Given the description of an element on the screen output the (x, y) to click on. 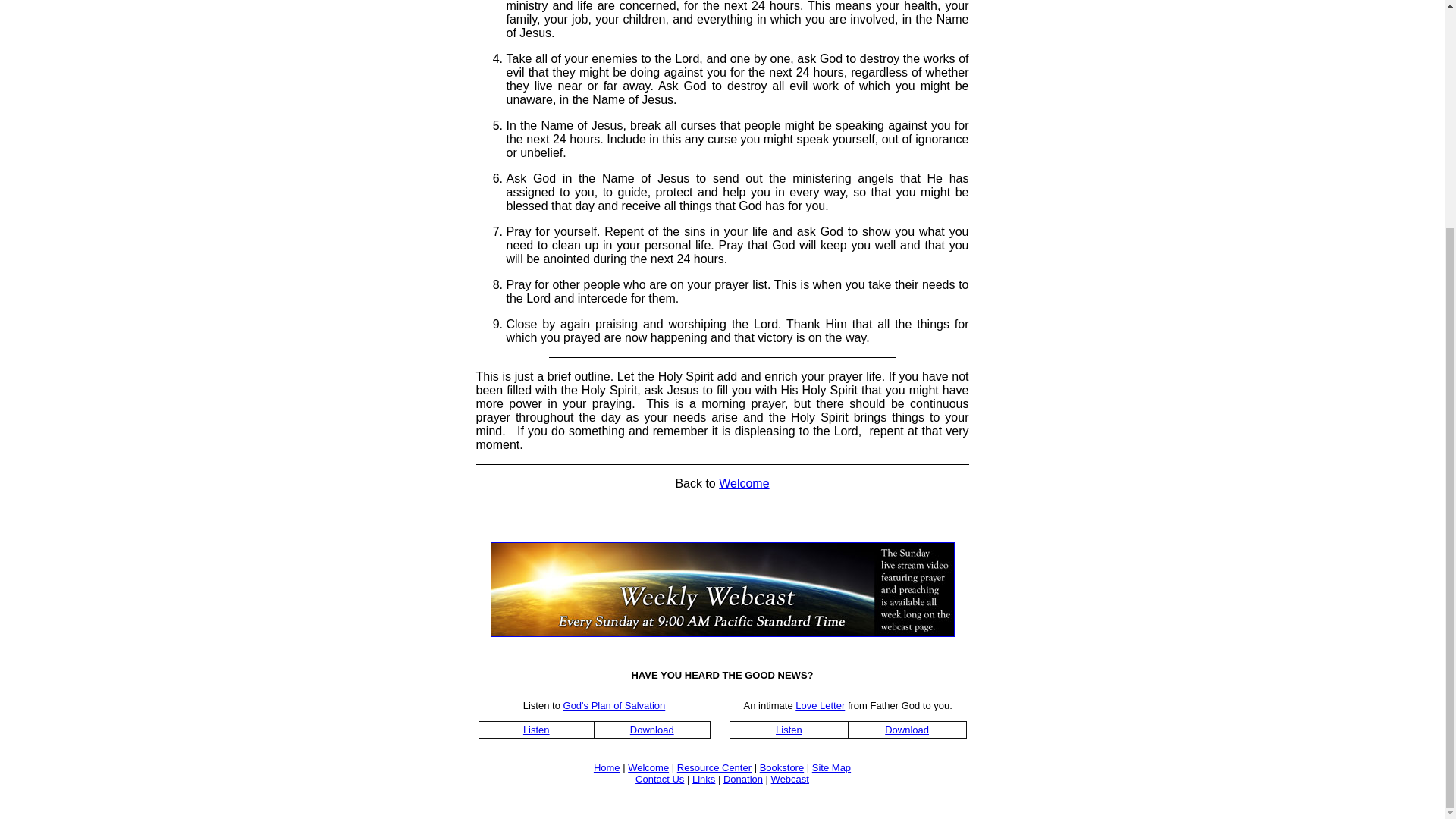
Bookstore (782, 767)
Home (607, 767)
Links (703, 778)
Resource Center (714, 767)
Listen (789, 728)
Donation (742, 778)
Download (652, 728)
Contact Us (659, 778)
Webcast (790, 778)
Listen (536, 728)
Welcome (743, 482)
Welcome (647, 767)
Links (703, 778)
God's Plan of Salvation (614, 704)
Download (906, 728)
